Given the description of an element on the screen output the (x, y) to click on. 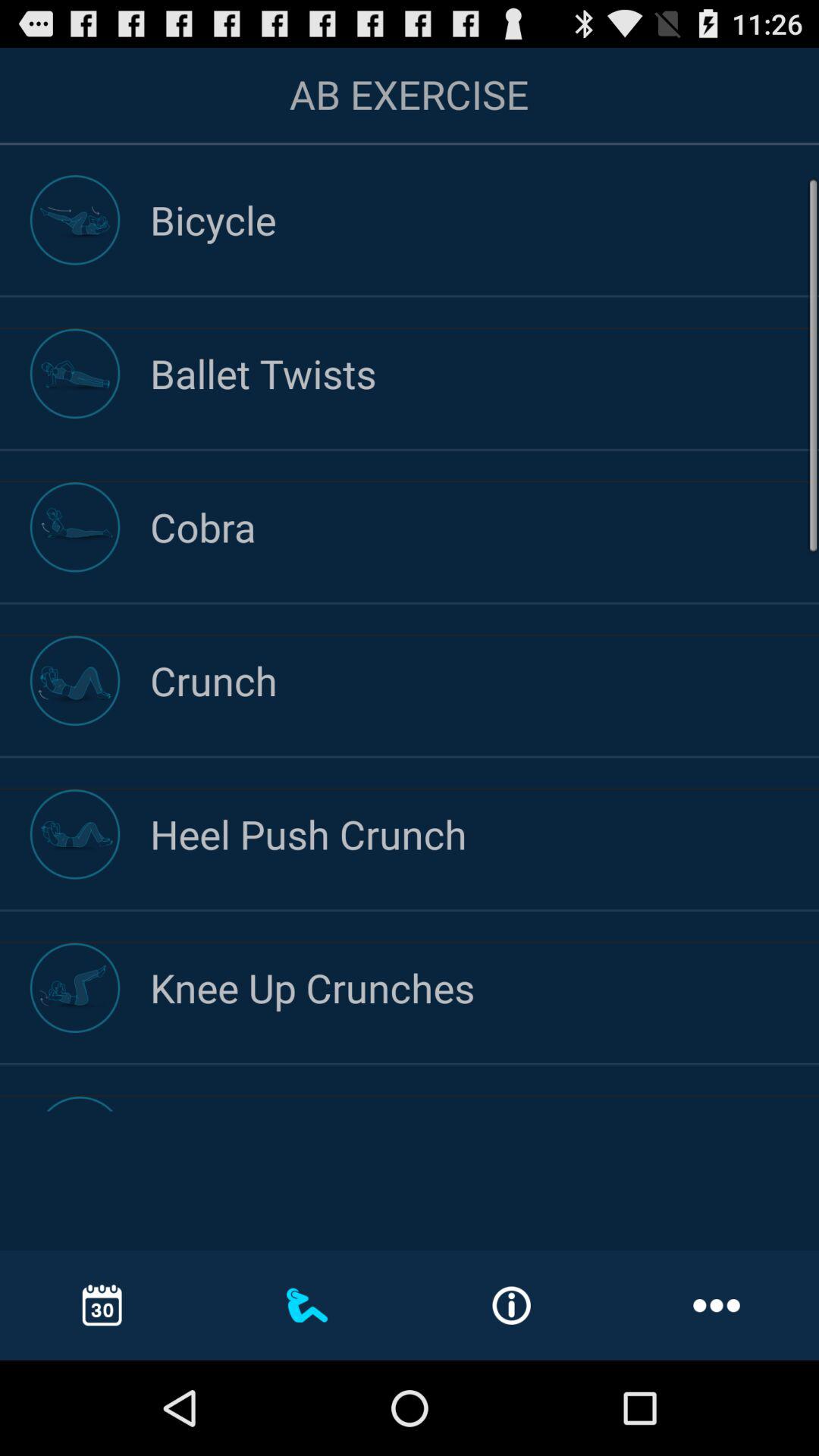
scroll to cobra app (484, 526)
